Given the description of an element on the screen output the (x, y) to click on. 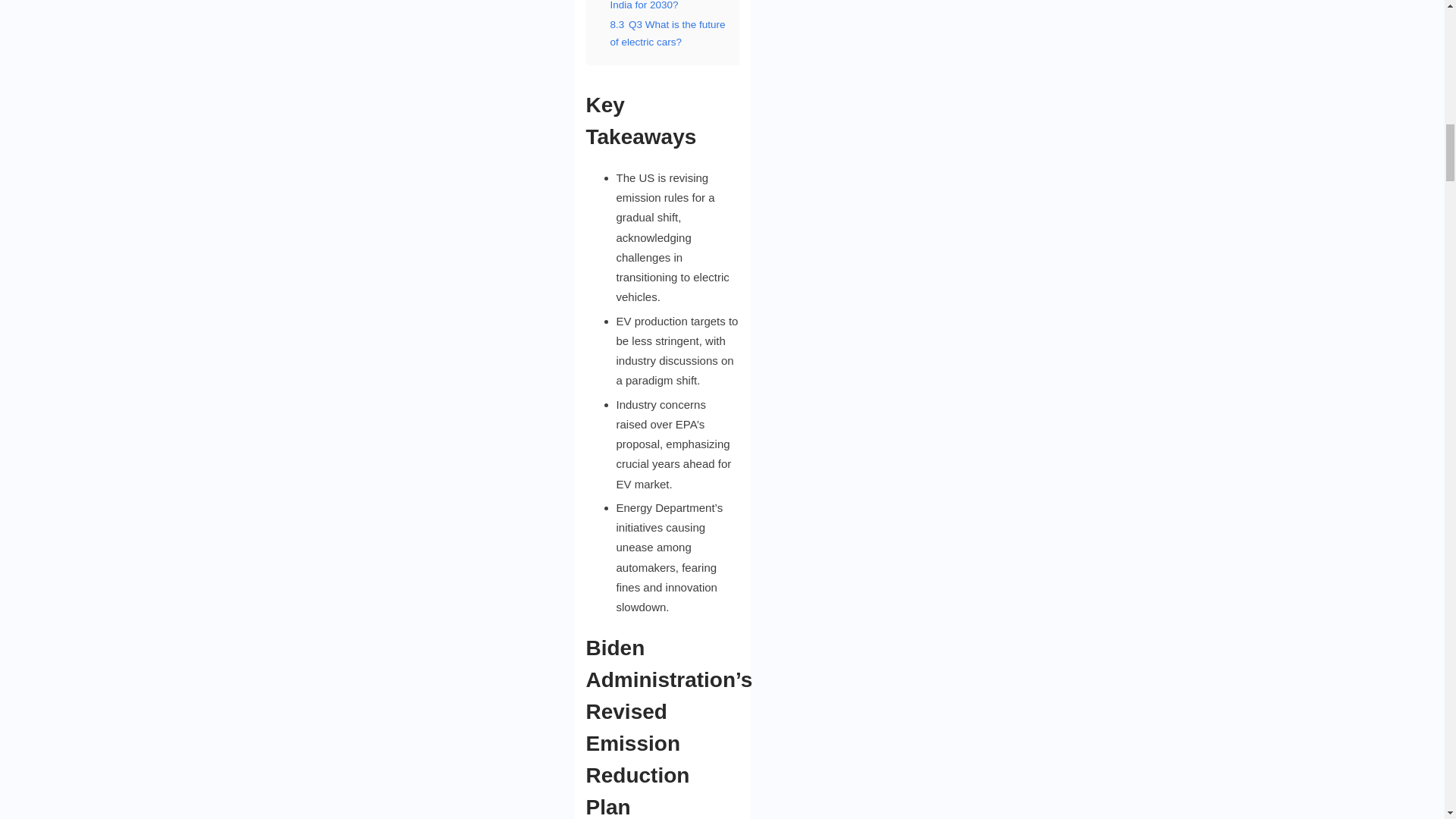
8.3 Q3 What is the future of electric cars? (667, 33)
